Given the description of an element on the screen output the (x, y) to click on. 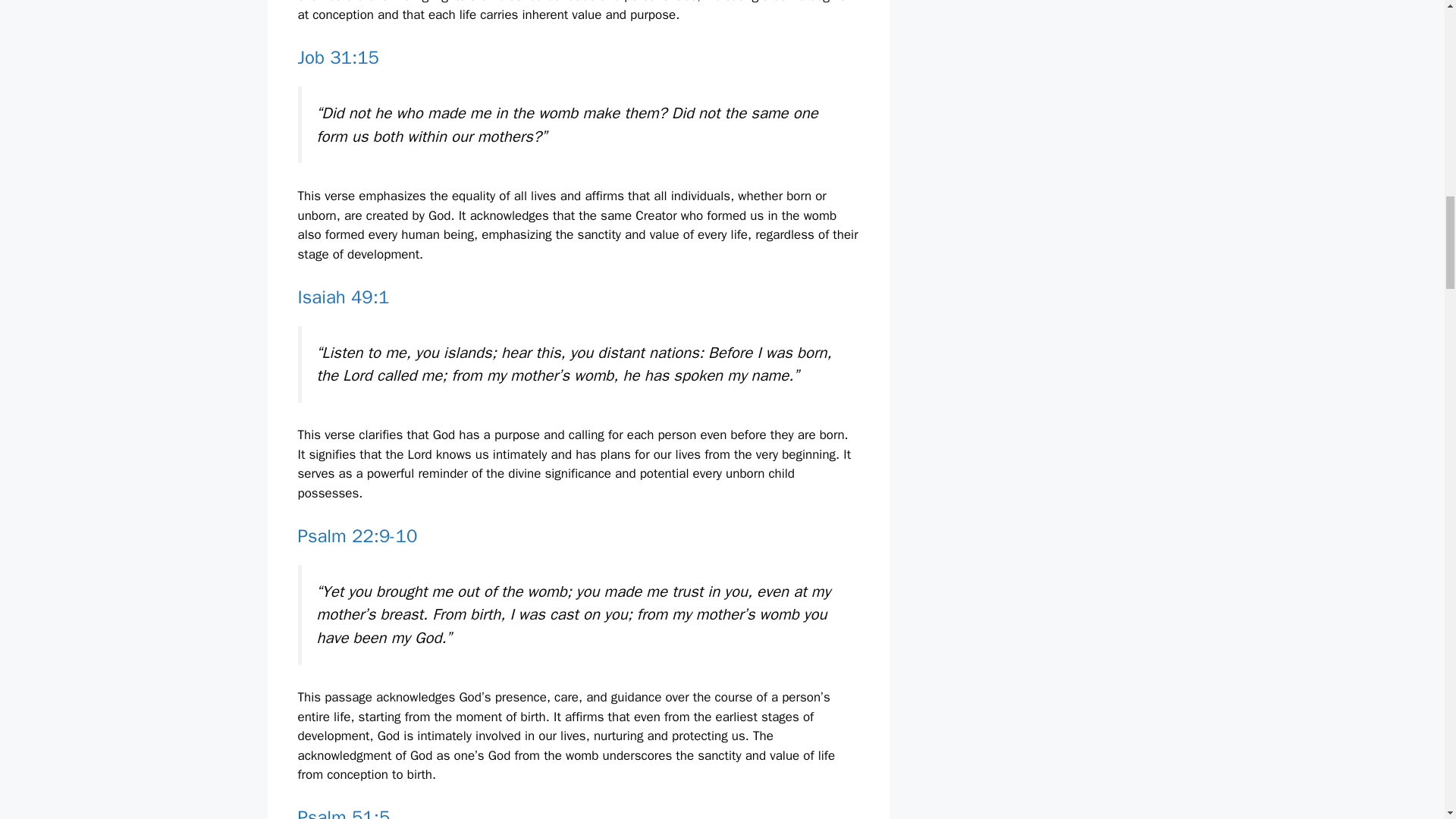
Psalm 22:9-10 (356, 535)
Psalm 51:5 (343, 812)
Isaiah 49:1 (342, 296)
Job 31:15 (337, 56)
